Given the description of an element on the screen output the (x, y) to click on. 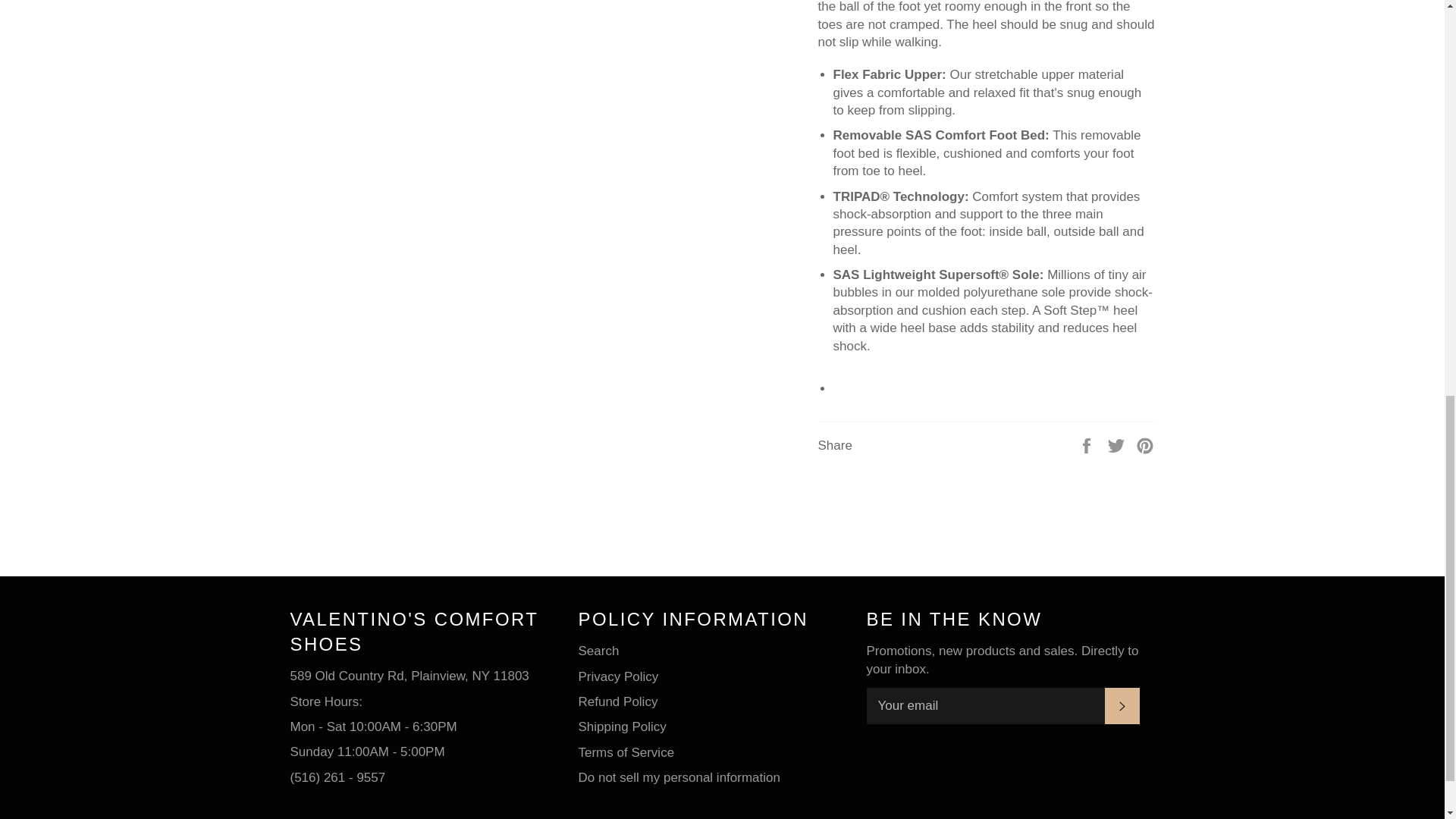
Tweet on Twitter (1117, 445)
Share on Facebook (1088, 445)
Pin on Pinterest (1144, 445)
